Given the description of an element on the screen output the (x, y) to click on. 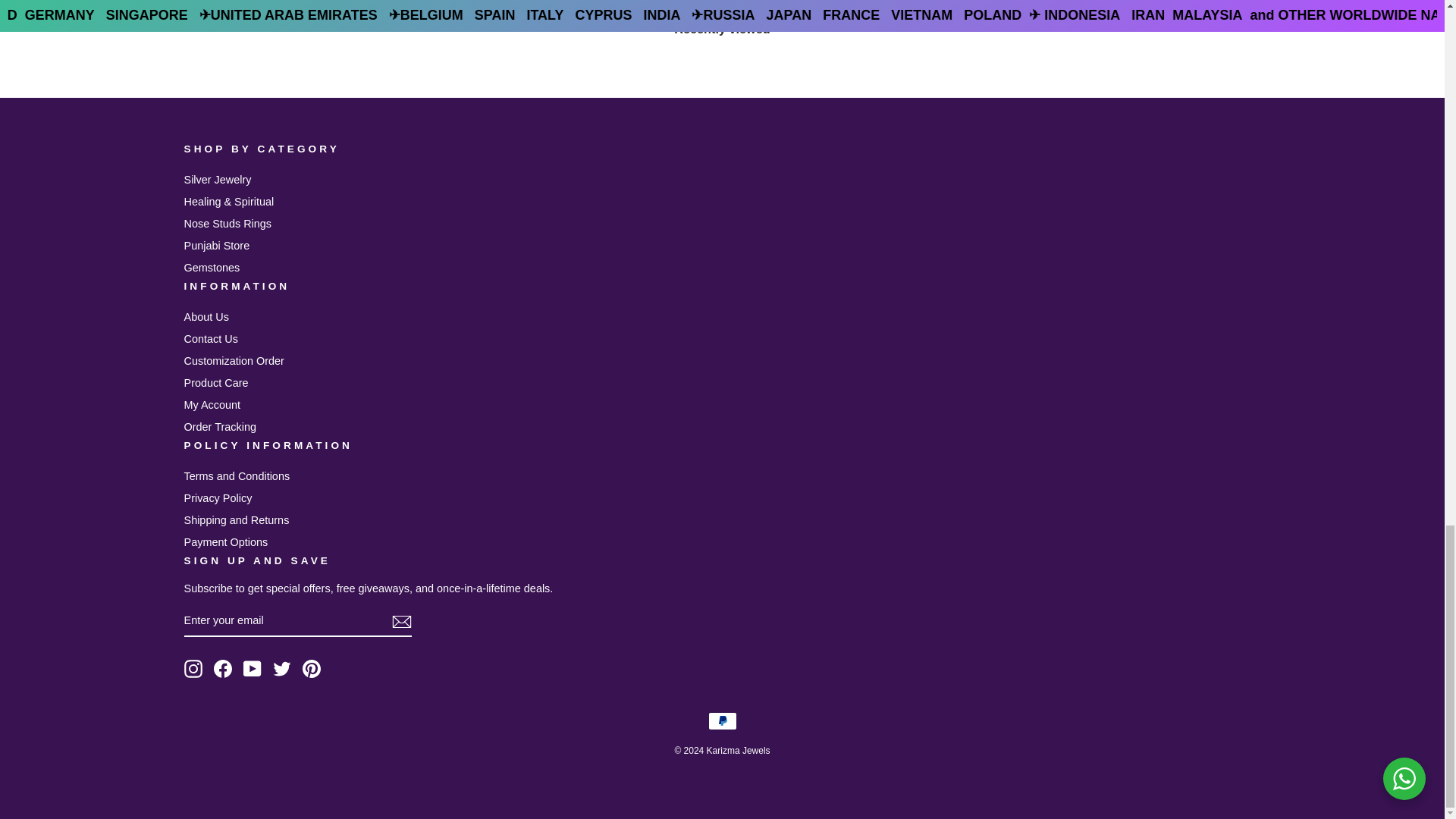
Karizma Jewels on Facebook (222, 669)
Karizma Jewels on Pinterest (310, 669)
Karizma Jewels on Instagram (192, 669)
instagram (192, 669)
Karizma Jewels on Twitter (282, 669)
icon-email (400, 621)
Karizma Jewels on YouTube (251, 669)
